Given the description of an element on the screen output the (x, y) to click on. 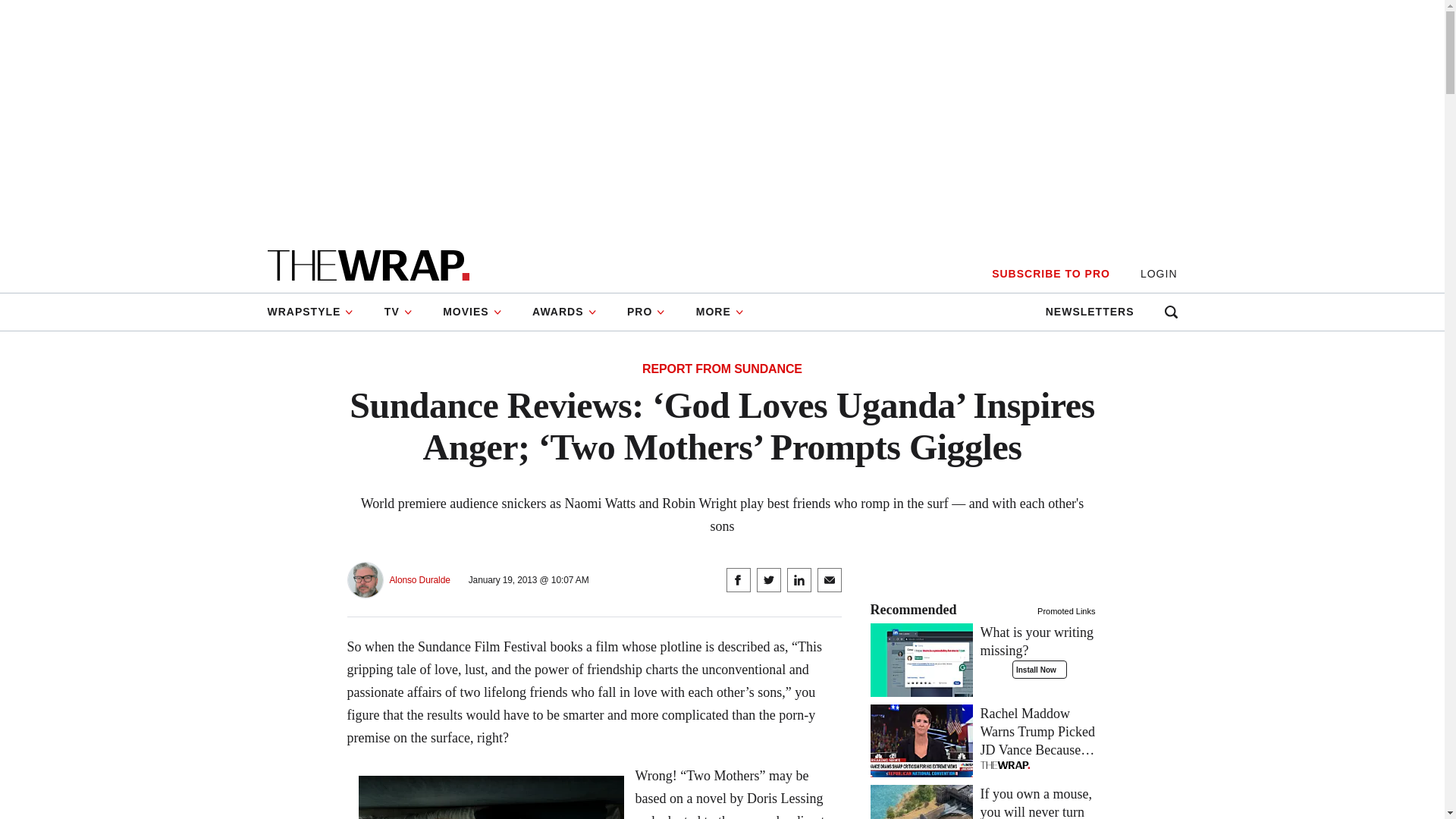
PRO (646, 311)
AWARDS (563, 311)
WRAPSTYLE (317, 311)
MORE (719, 311)
TV (398, 311)
What is your writing missing? (983, 651)
Posts by Alonso Duralde (419, 580)
LOGIN (1158, 273)
SUBSCRIBE TO PRO (1050, 273)
MOVIES (472, 311)
